Given the description of an element on the screen output the (x, y) to click on. 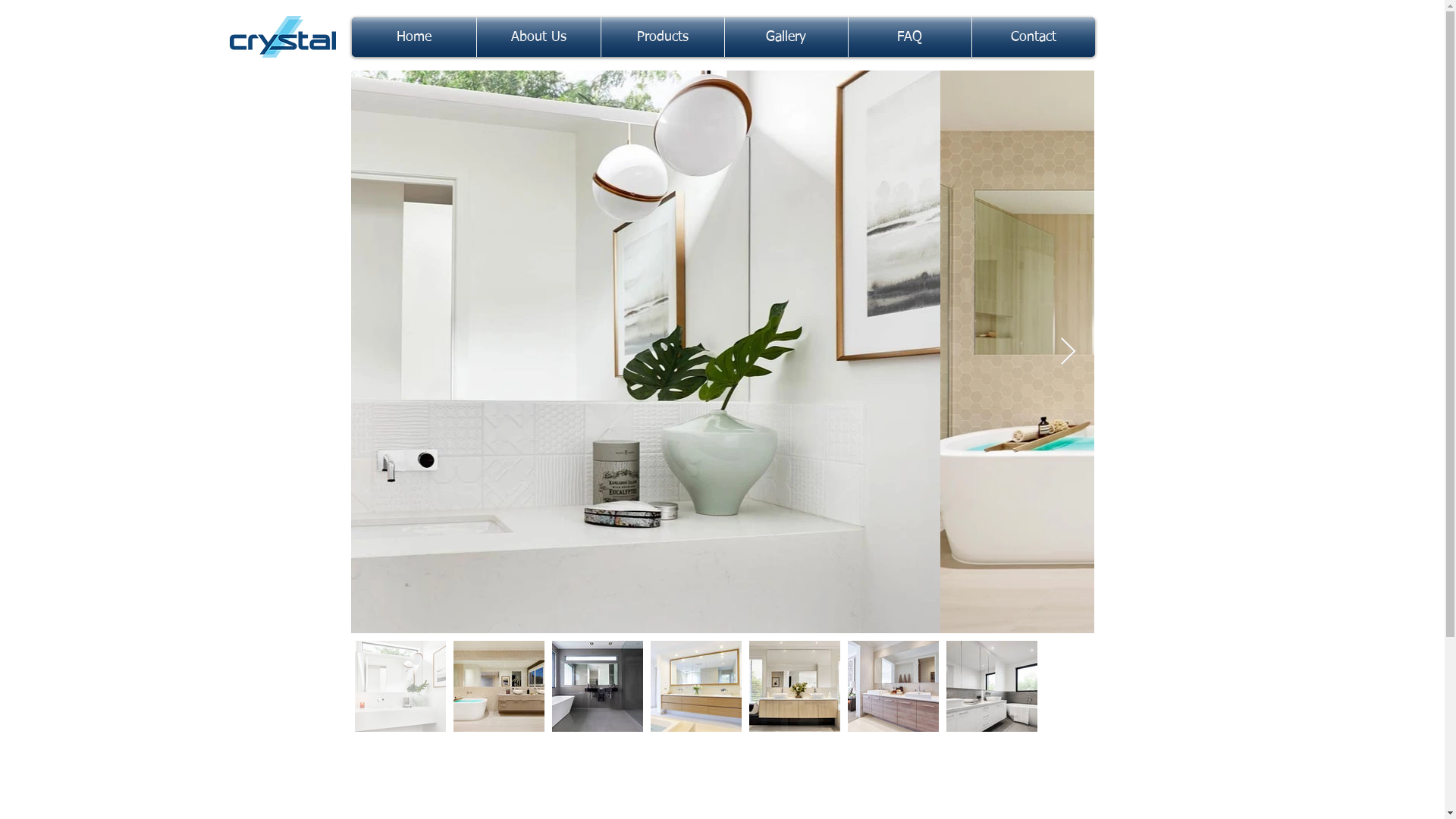
Contact Element type: text (1033, 36)
Home Element type: text (413, 36)
About Us Element type: text (537, 36)
FAQ Element type: text (908, 36)
Site Search Element type: hover (1157, 39)
